Given the description of an element on the screen output the (x, y) to click on. 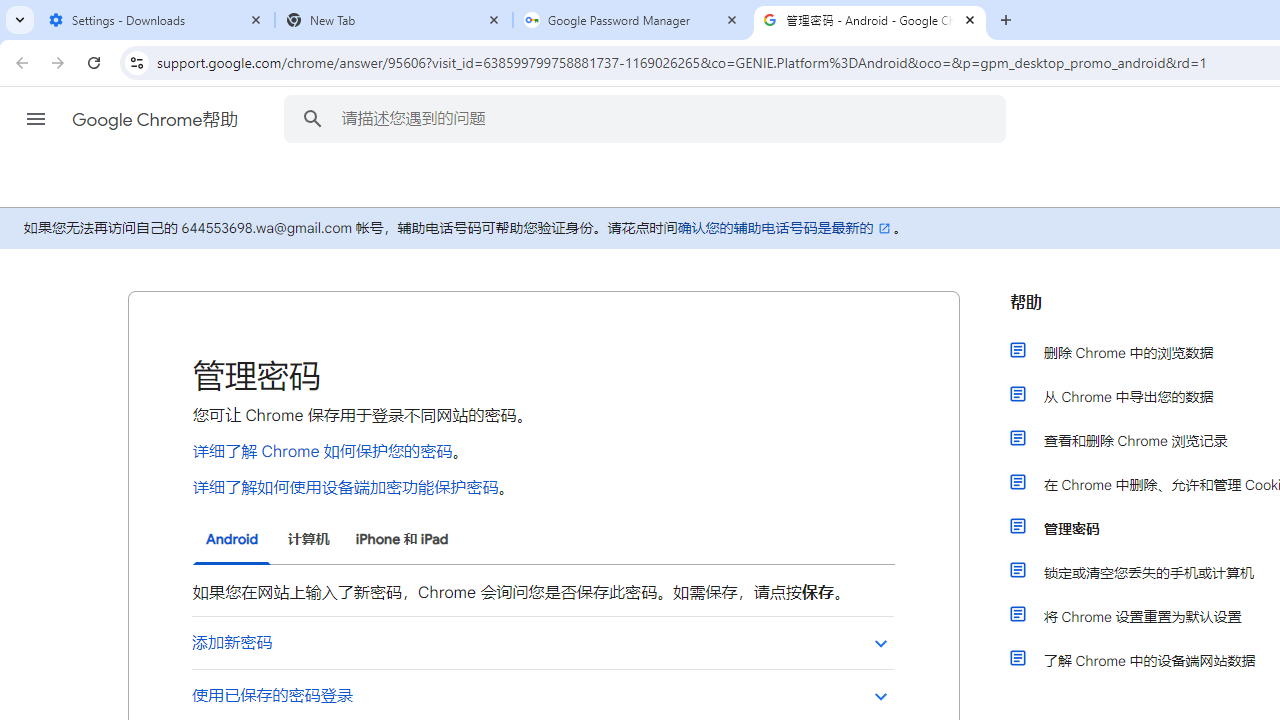
Settings - Downloads (156, 20)
Android (232, 540)
